Given the description of an element on the screen output the (x, y) to click on. 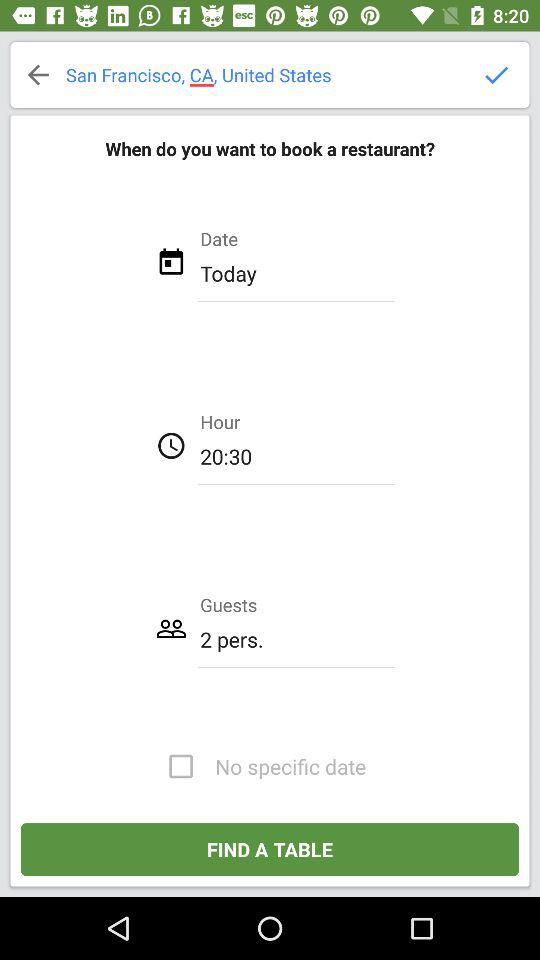
back (38, 75)
